Given the description of an element on the screen output the (x, y) to click on. 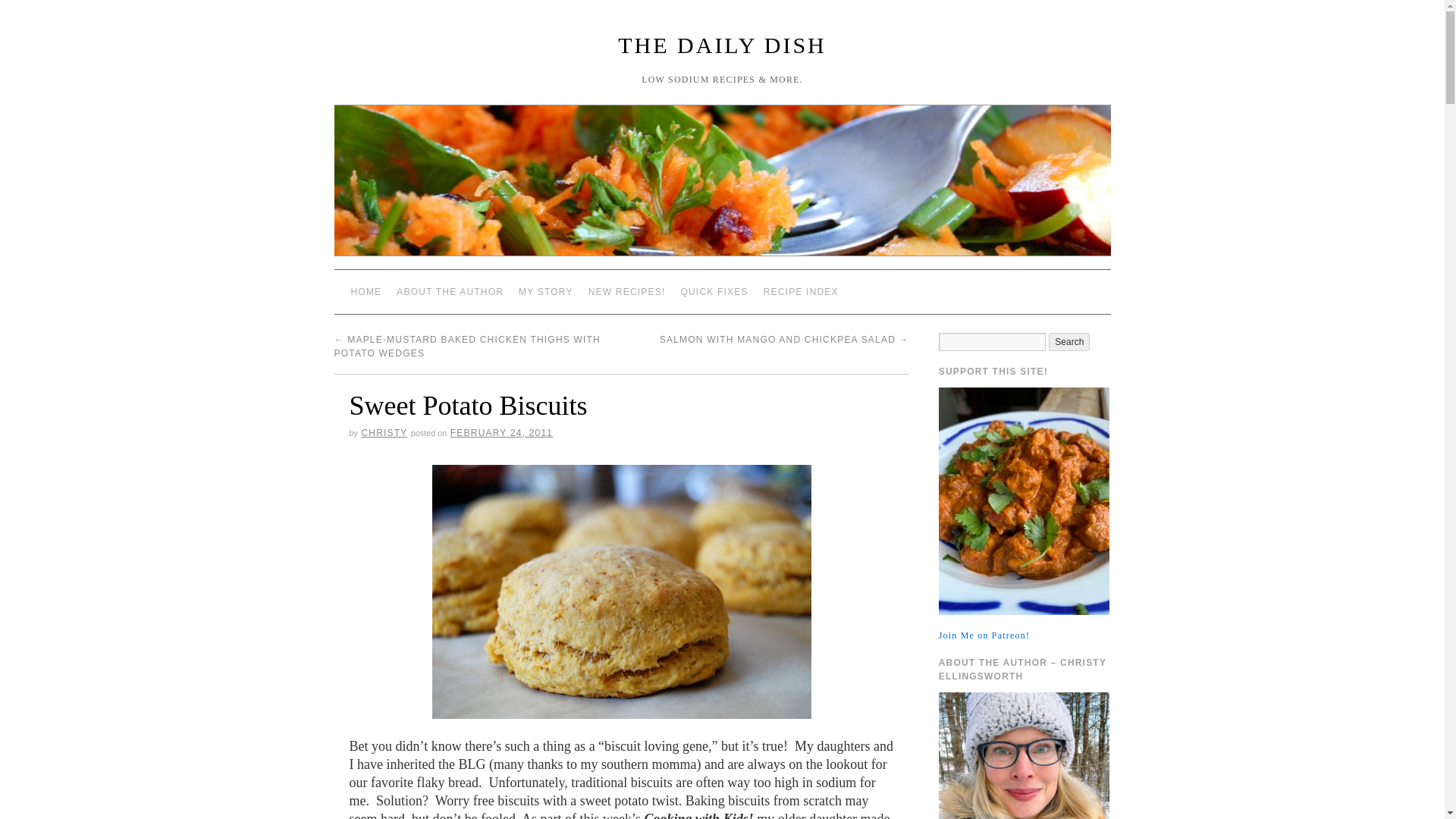
CHRISTY (384, 432)
ABOUT THE AUTHOR (449, 291)
Search (1068, 341)
View all posts by Christy (384, 432)
sweet potato biscuits ! (621, 592)
THE DAILY DISH (722, 44)
NEW RECIPES! (626, 291)
Search (1068, 341)
MY STORY (545, 291)
QUICK FIXES (713, 291)
The Daily Dish (721, 186)
FEBRUARY 24, 2011 (501, 432)
RECIPE INDEX (800, 291)
HOME (365, 291)
10:52 am (501, 432)
